Given the description of an element on the screen output the (x, y) to click on. 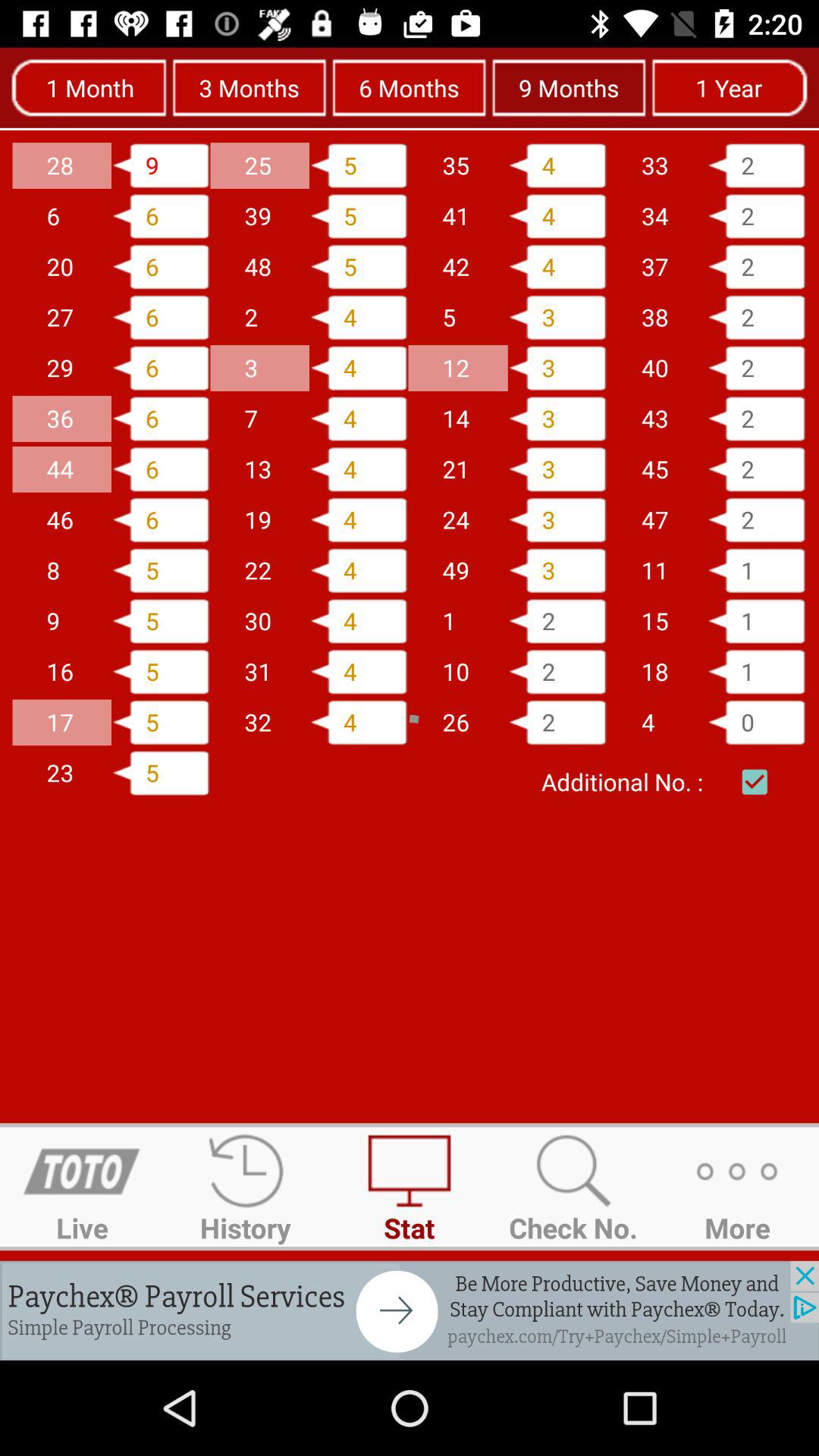
select option (754, 781)
